Given the description of an element on the screen output the (x, y) to click on. 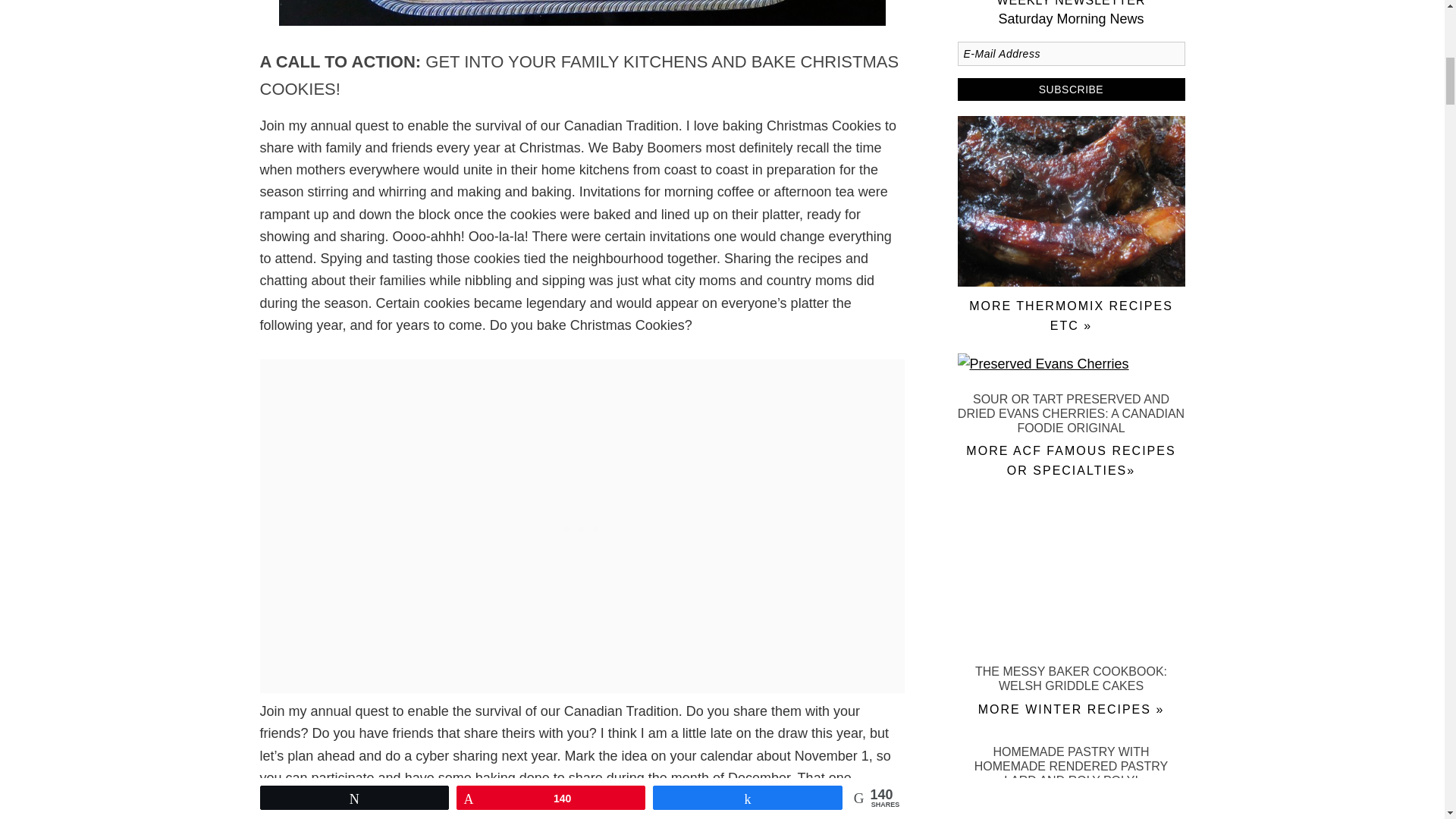
Chipotle and Fresh Horseradish Barbecue Sauce (1070, 281)
Subscribe (1070, 88)
